Given the description of an element on the screen output the (x, y) to click on. 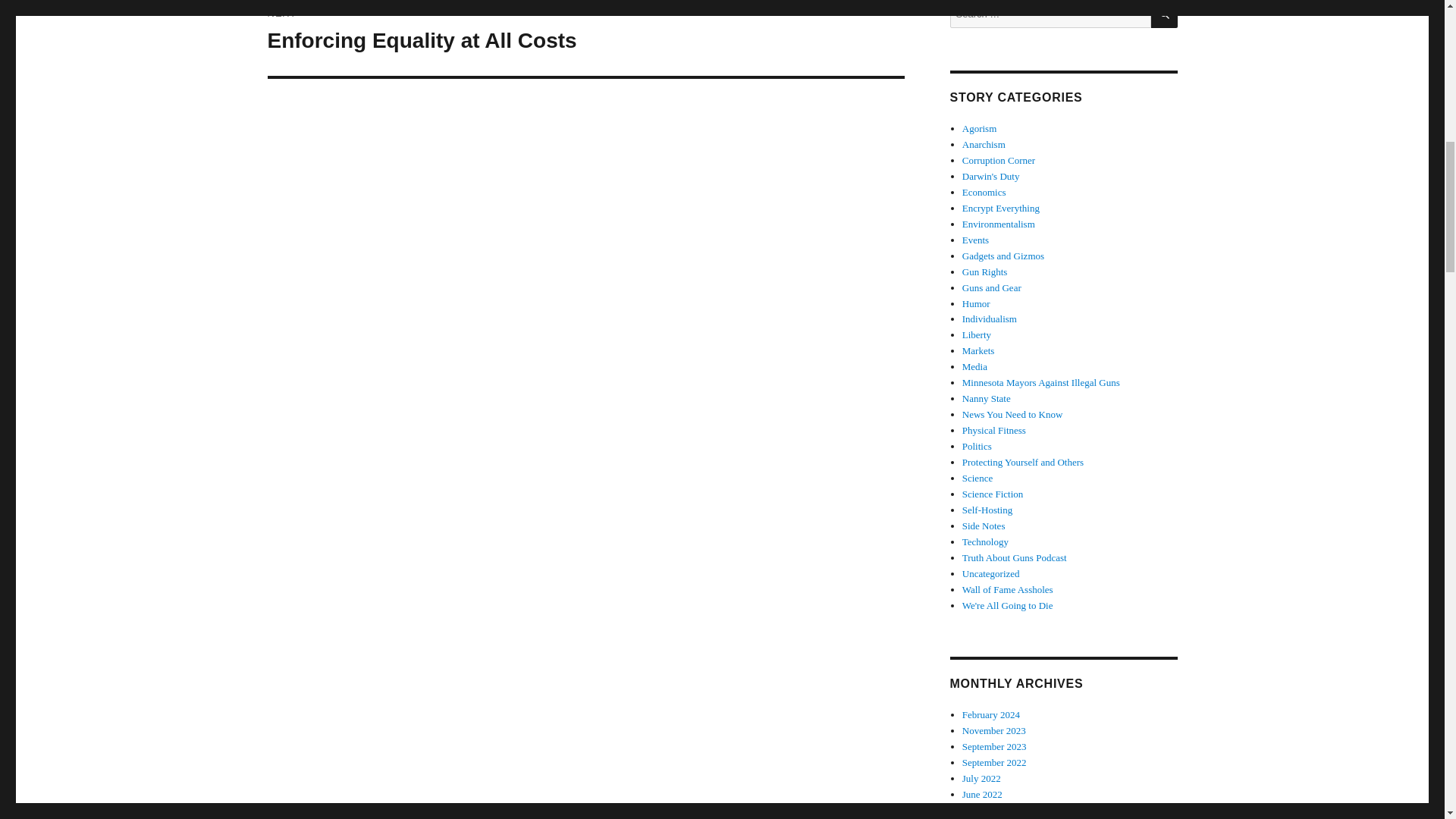
News You Need to Know (1012, 414)
Media (974, 366)
Humor (976, 302)
Individualism (989, 318)
Liberty (976, 334)
Encrypt Everything (585, 38)
Anarchism (1000, 207)
SEARCH (984, 143)
Corruption Corner (1164, 14)
